Given the description of an element on the screen output the (x, y) to click on. 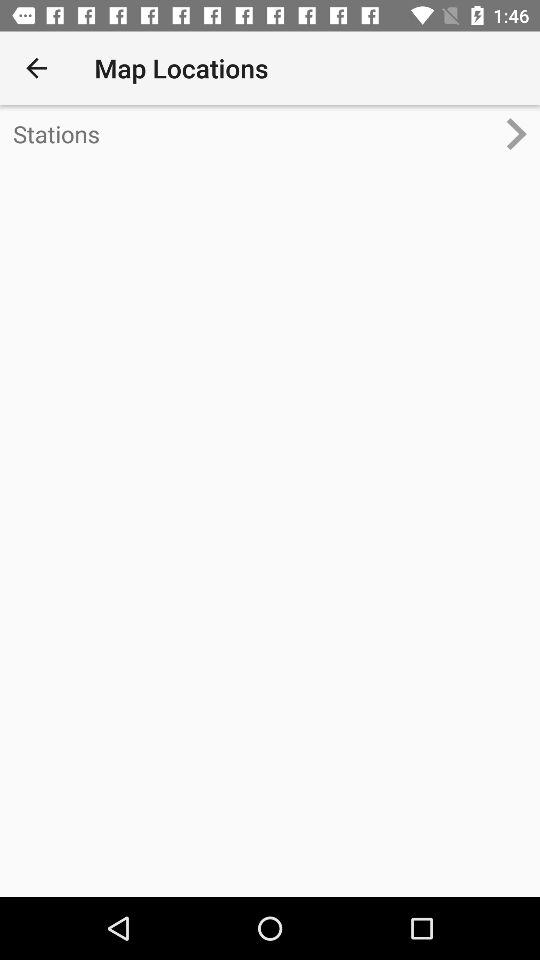
select the icon to the left of the map locations (36, 68)
